Given the description of an element on the screen output the (x, y) to click on. 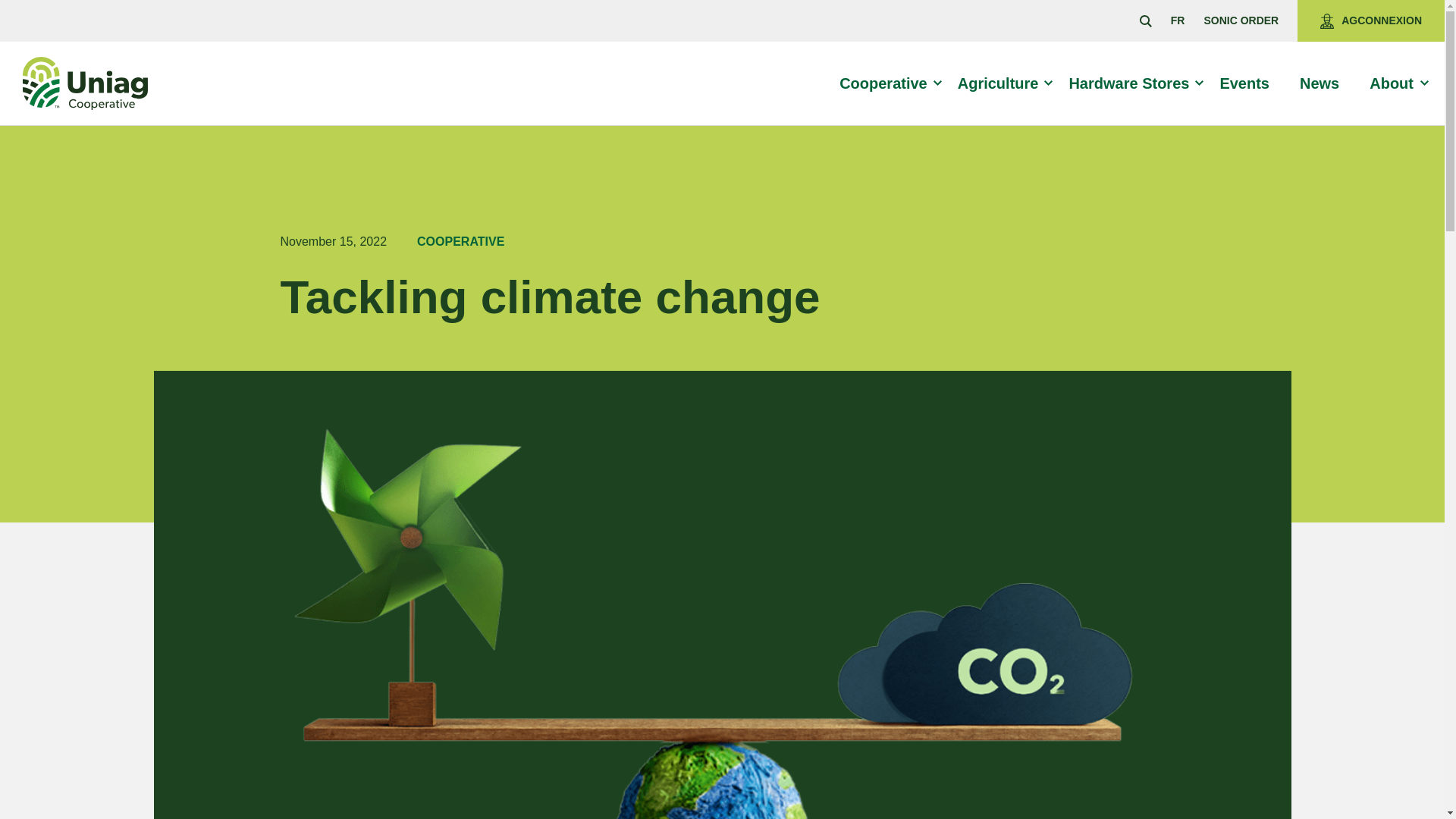
Agriculture (1004, 83)
News (1326, 83)
Hardware Stores (1135, 83)
SONIC ORDER (1241, 20)
Cooperative (890, 83)
Fr (1177, 20)
Tackling climate change (610, 297)
FR (1177, 20)
Events (1251, 83)
About (1398, 83)
